Given the description of an element on the screen output the (x, y) to click on. 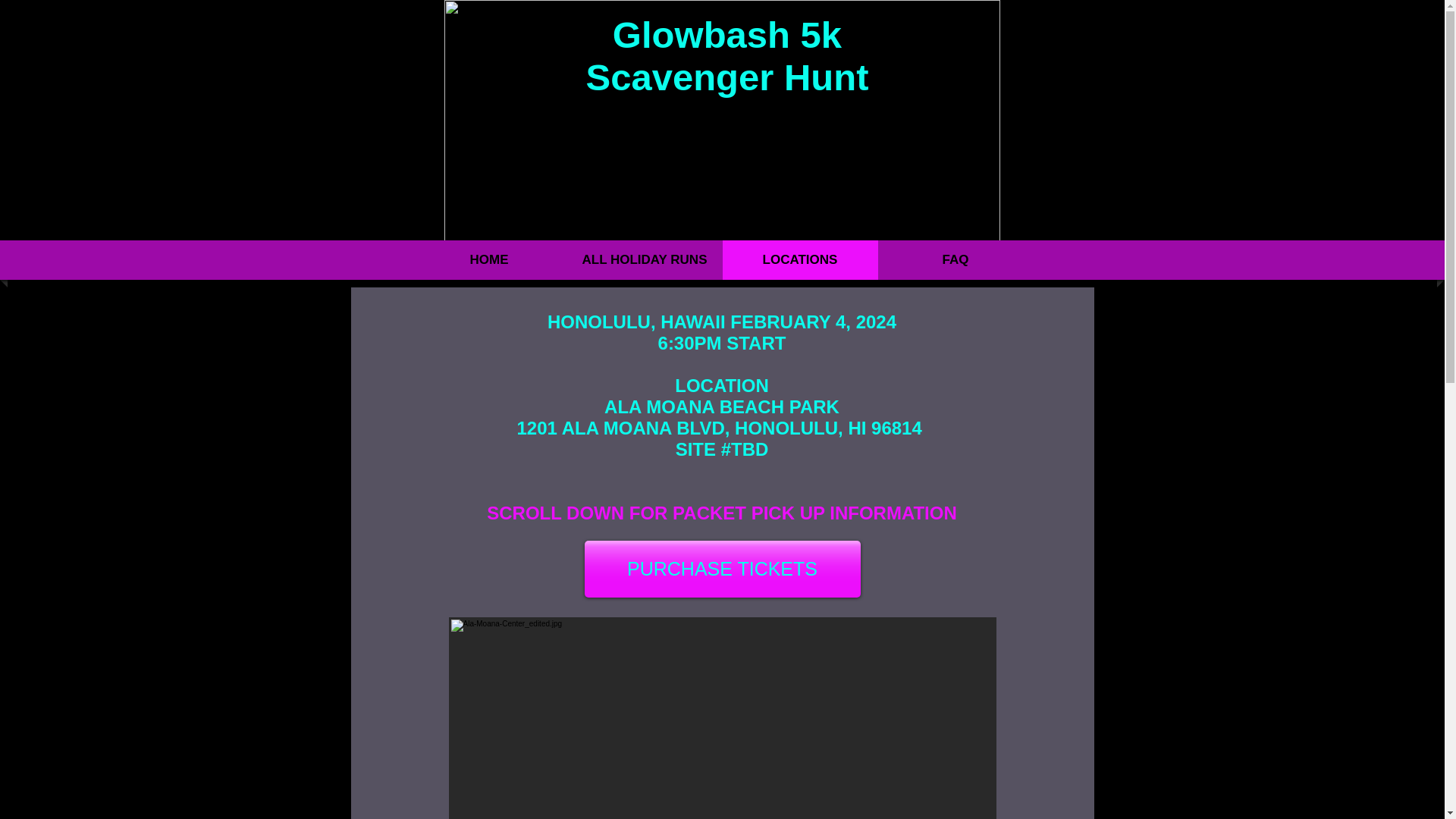
ALL HOLIDAY RUNS (643, 260)
FAQ (954, 260)
LOCATIONS (800, 260)
HOME (488, 260)
